Given the description of an element on the screen output the (x, y) to click on. 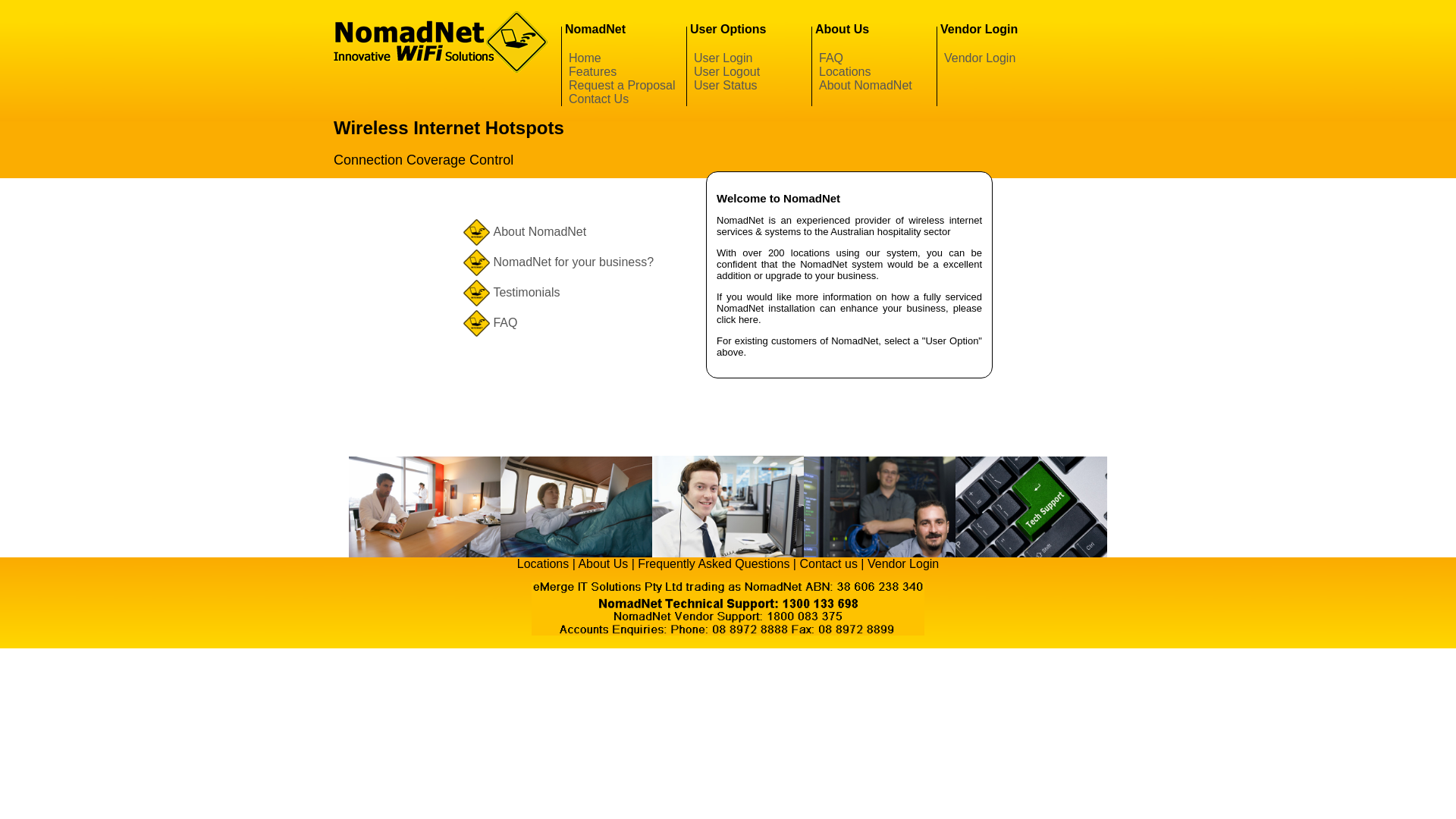
FAQ Element type: text (504, 322)
User Logout Element type: text (726, 71)
NomadNet for your business? Element type: text (572, 261)
FAQ Element type: text (831, 57)
Locations Element type: text (845, 71)
Vendor Login Element type: text (979, 57)
here Element type: text (748, 319)
Click ro see the web pages of NT Technology Element type: hover (727, 630)
Features Element type: text (592, 71)
About Us Element type: text (602, 563)
About NomadNet Element type: text (865, 84)
User Status Element type: text (725, 84)
Vendor Login Element type: text (902, 563)
Contact us Element type: text (827, 563)
Home Element type: text (584, 57)
Contact Us Element type: text (598, 98)
Locations Element type: text (543, 563)
User Login Element type: text (722, 57)
Request a Proposal Element type: text (621, 84)
Frequently Asked Questions Element type: text (713, 563)
Testimonials Element type: text (525, 291)
About NomadNet Element type: text (539, 231)
